Given the description of an element on the screen output the (x, y) to click on. 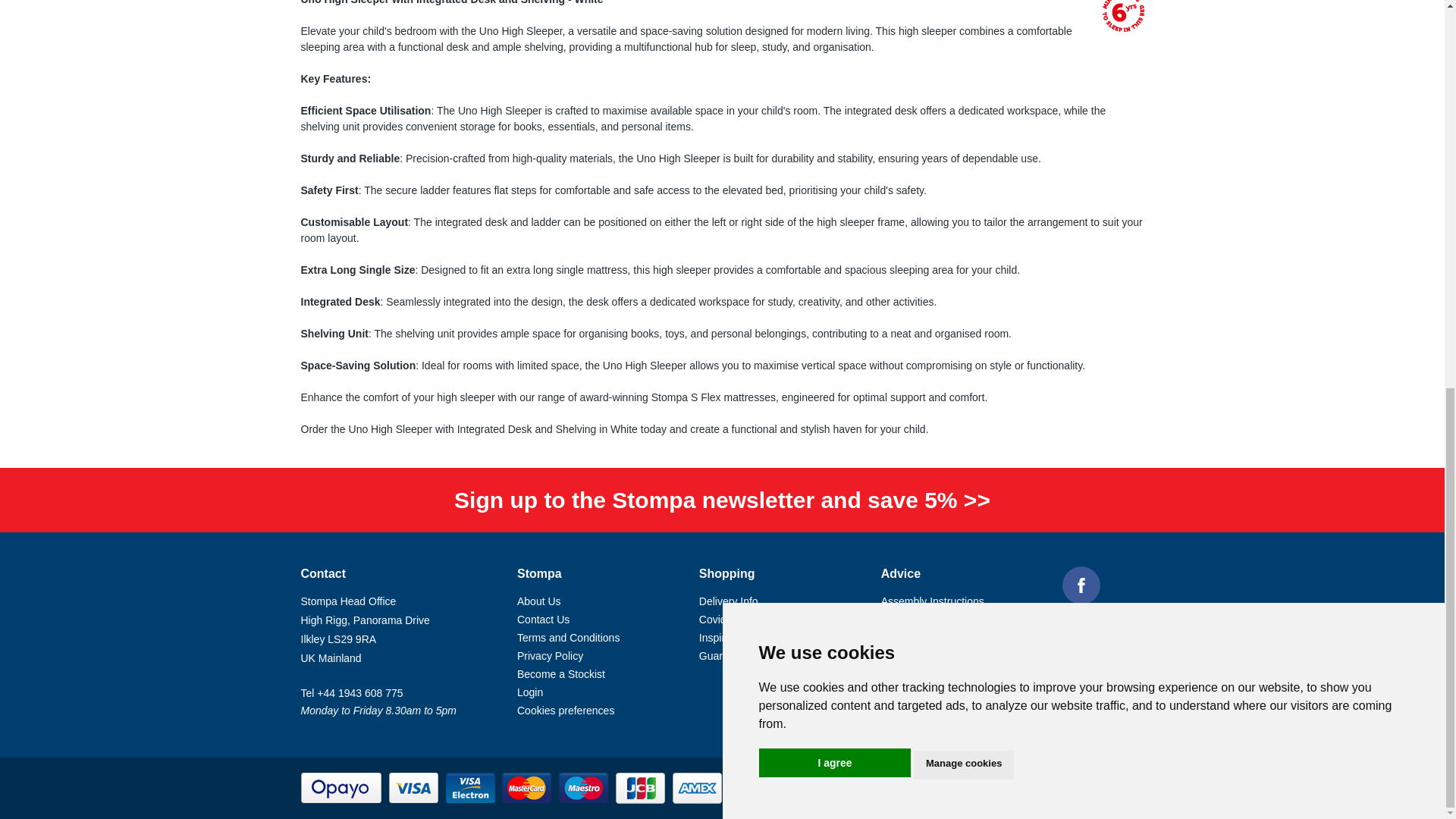
I agree (834, 25)
Change my preferences (962, 27)
